Given the description of an element on the screen output the (x, y) to click on. 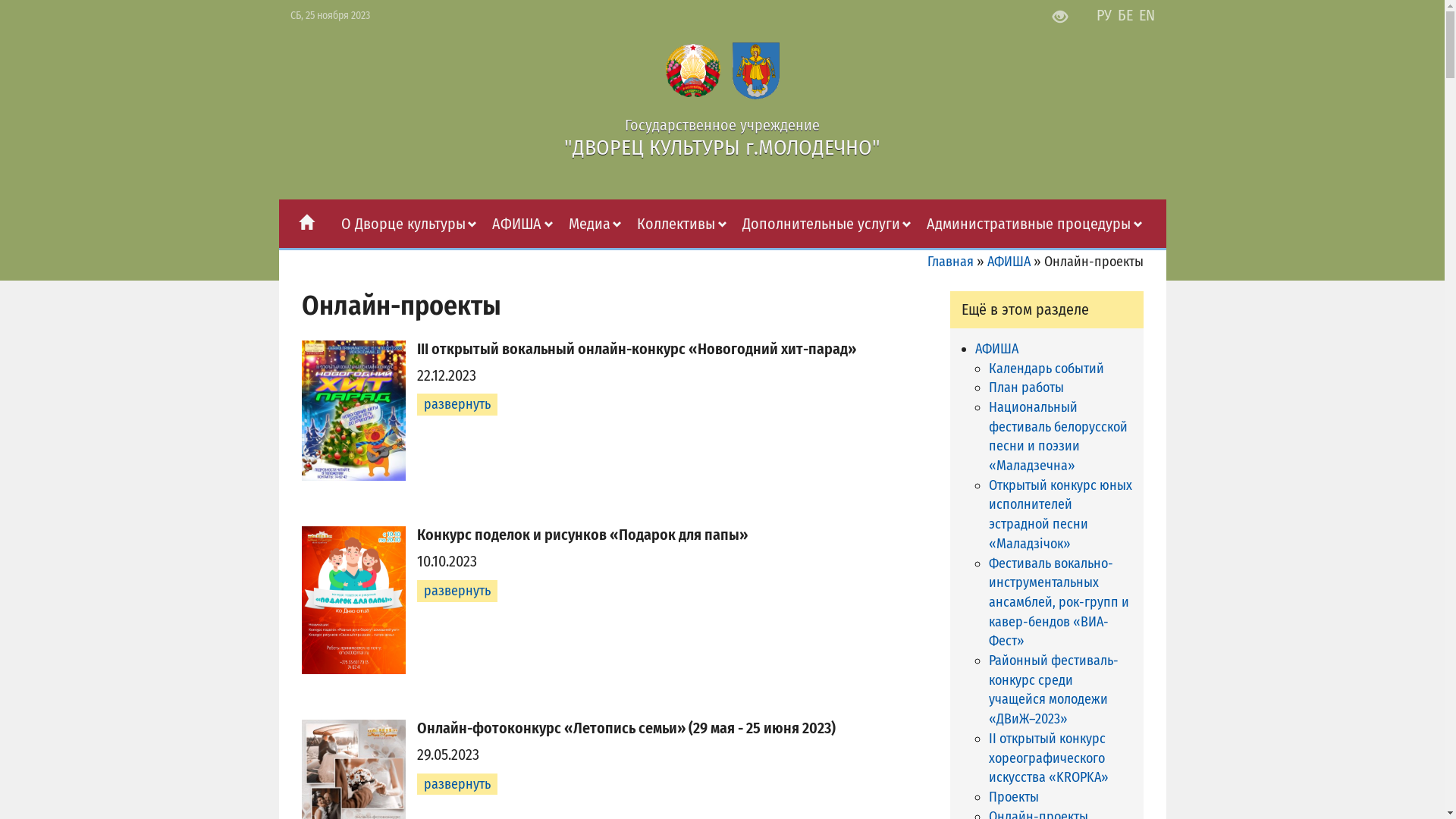
EN Element type: text (1146, 15)
